Given the description of an element on the screen output the (x, y) to click on. 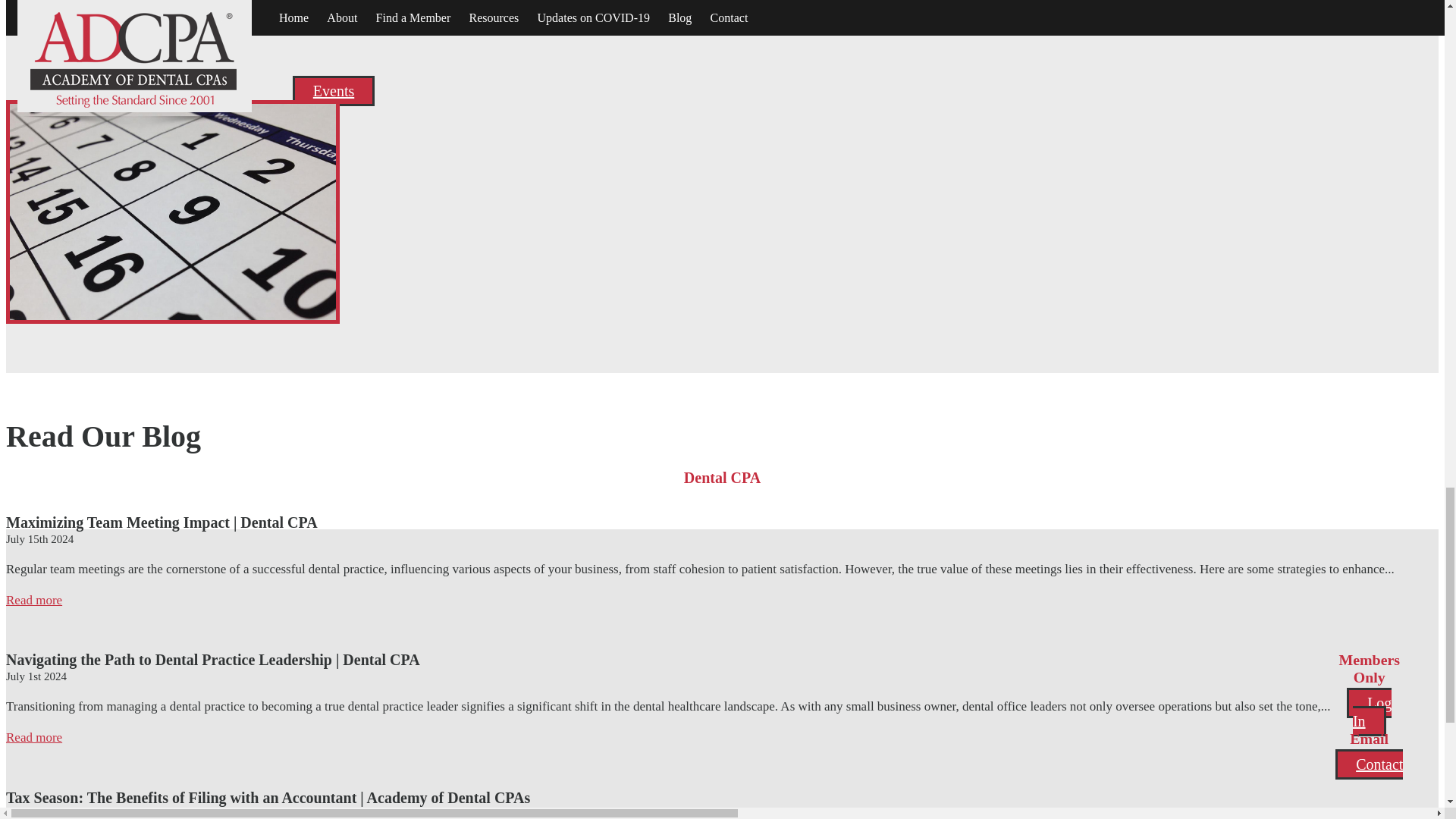
Read more (33, 599)
Read more (33, 737)
Events (333, 91)
Contact Us (1053, 784)
Log In (1368, 711)
